Given the description of an element on the screen output the (x, y) to click on. 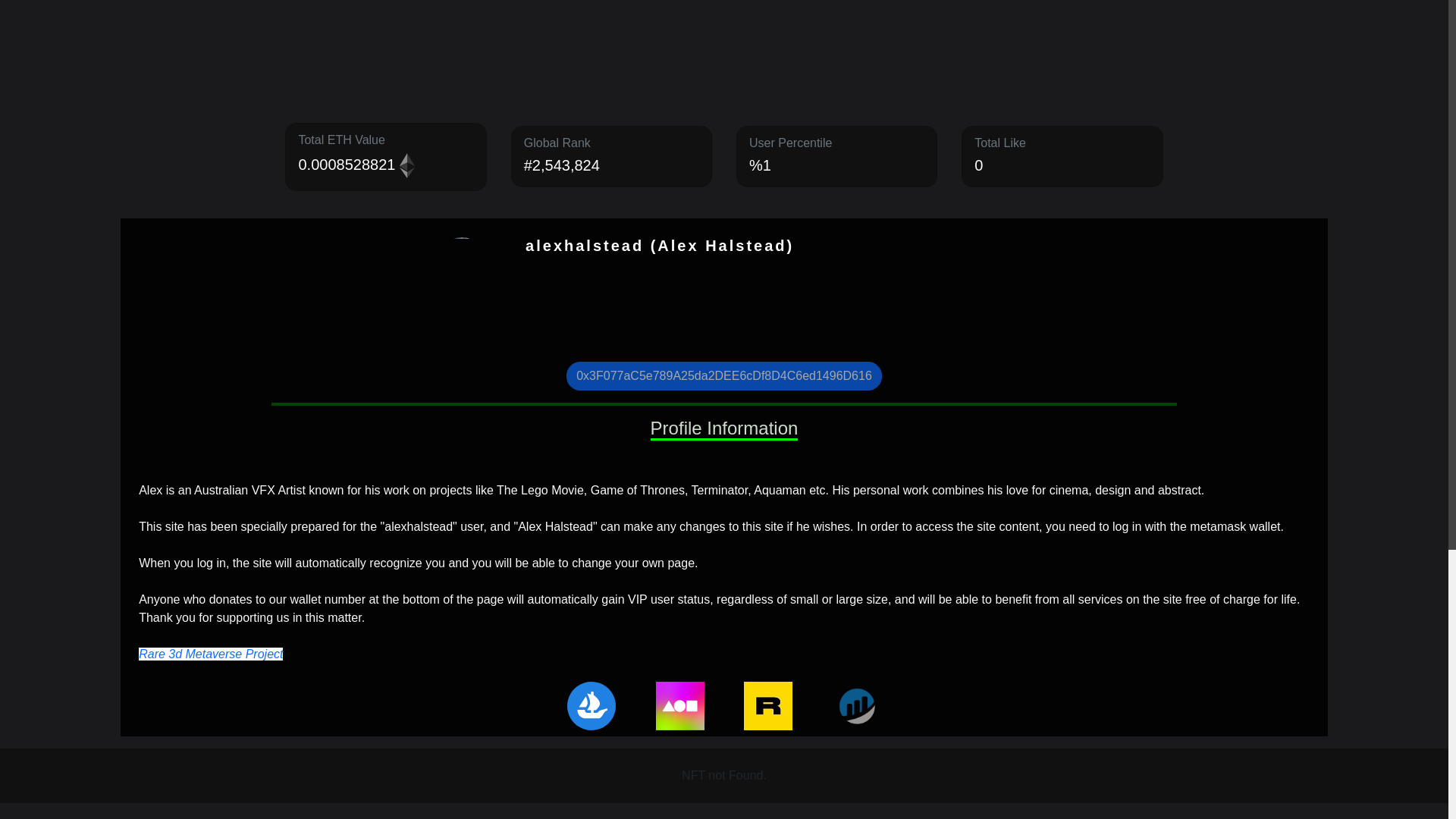
0x3F077aC5e789A25da2DEE6cDf8D4C6ed1496D616 (724, 375)
Rare 3d Metaverse Project (210, 653)
